Given the description of an element on the screen output the (x, y) to click on. 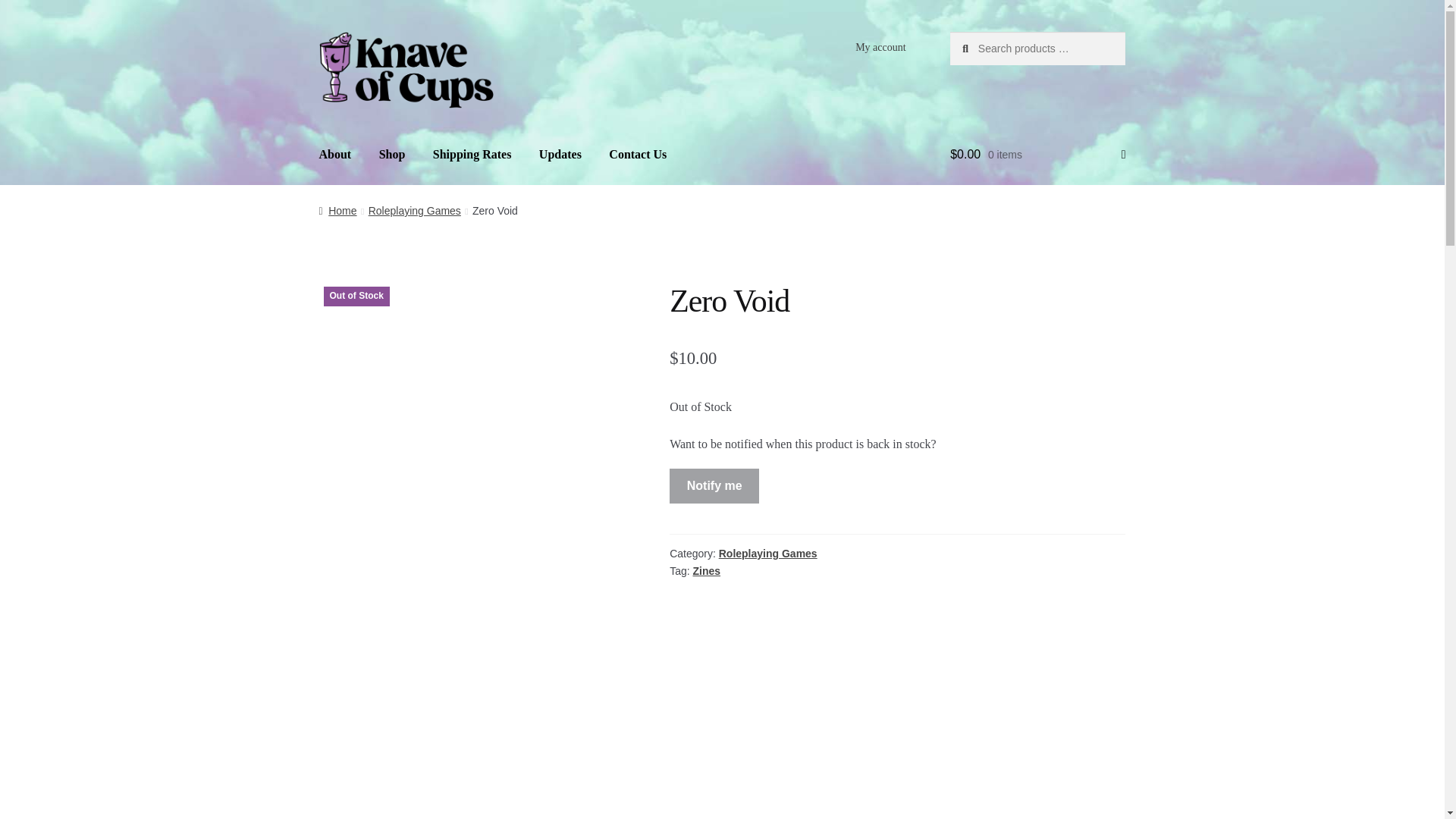
Roleplaying Games (767, 553)
About (335, 155)
Updates (560, 155)
My account (880, 47)
Shipping Rates (472, 155)
View your shopping cart (1037, 155)
Home (337, 210)
Contact Us (637, 155)
Zines (706, 571)
Notify me (713, 485)
Roleplaying Games (414, 210)
